Given the description of an element on the screen output the (x, y) to click on. 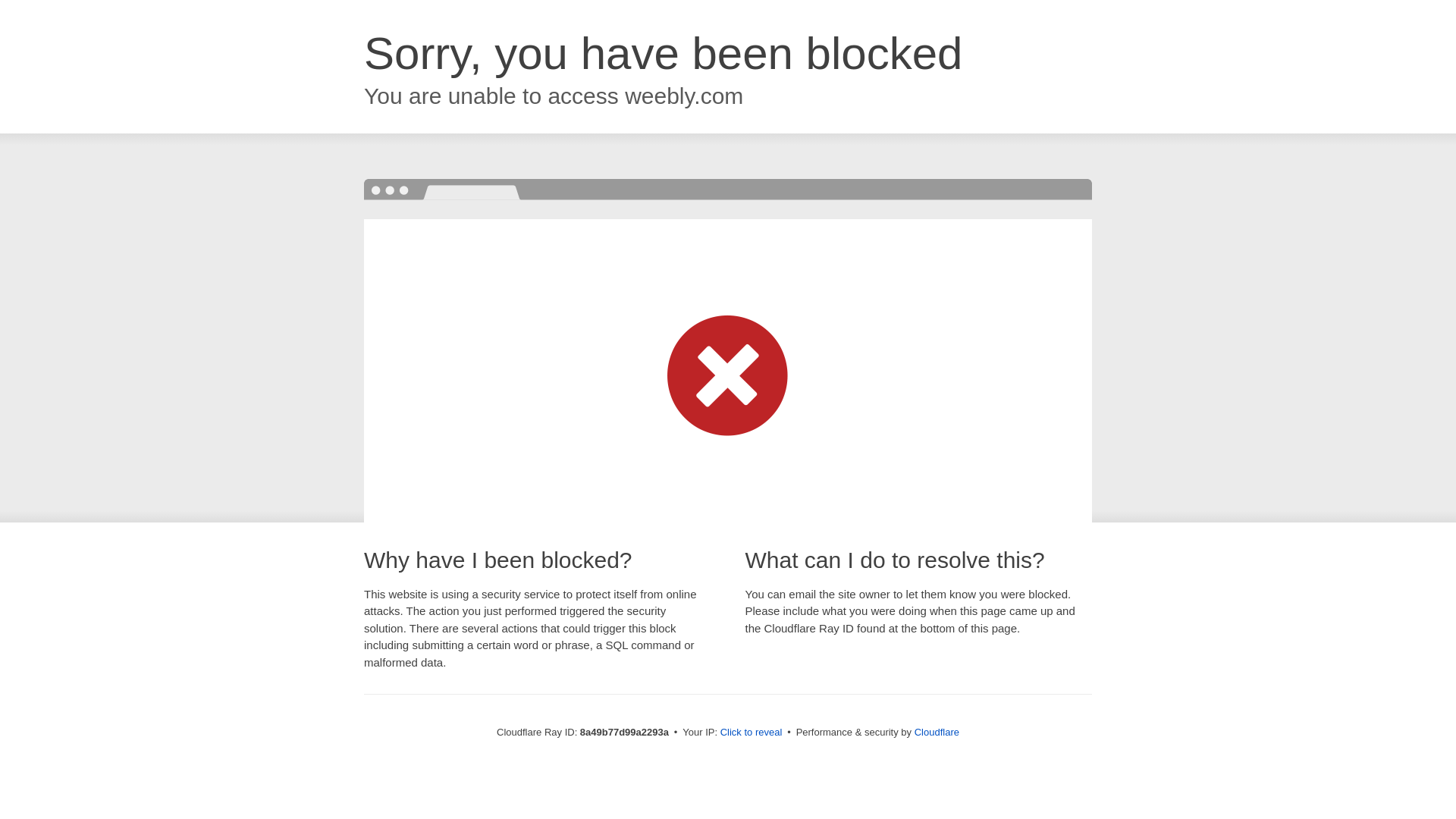
Cloudflare (936, 731)
Click to reveal (751, 732)
